Given the description of an element on the screen output the (x, y) to click on. 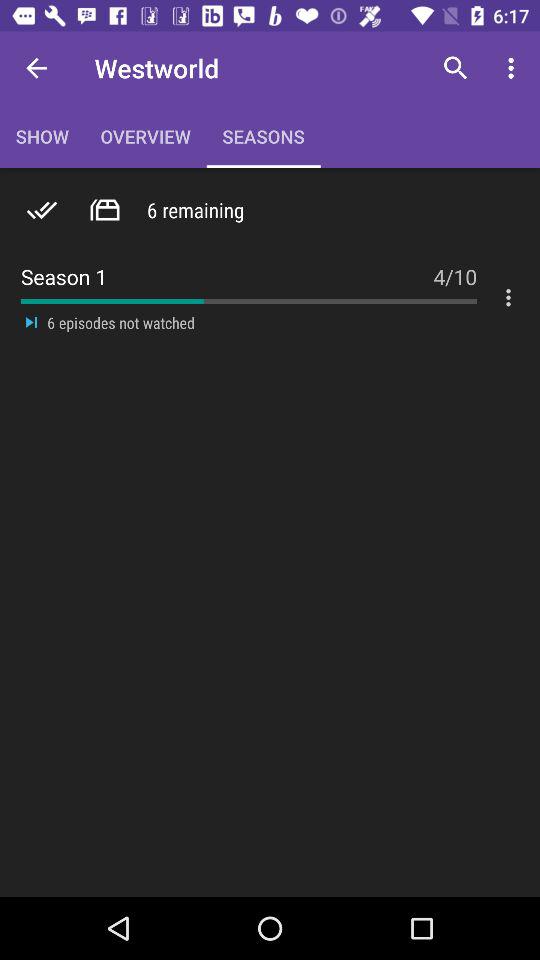
tap item above show (36, 68)
